Given the description of an element on the screen output the (x, y) to click on. 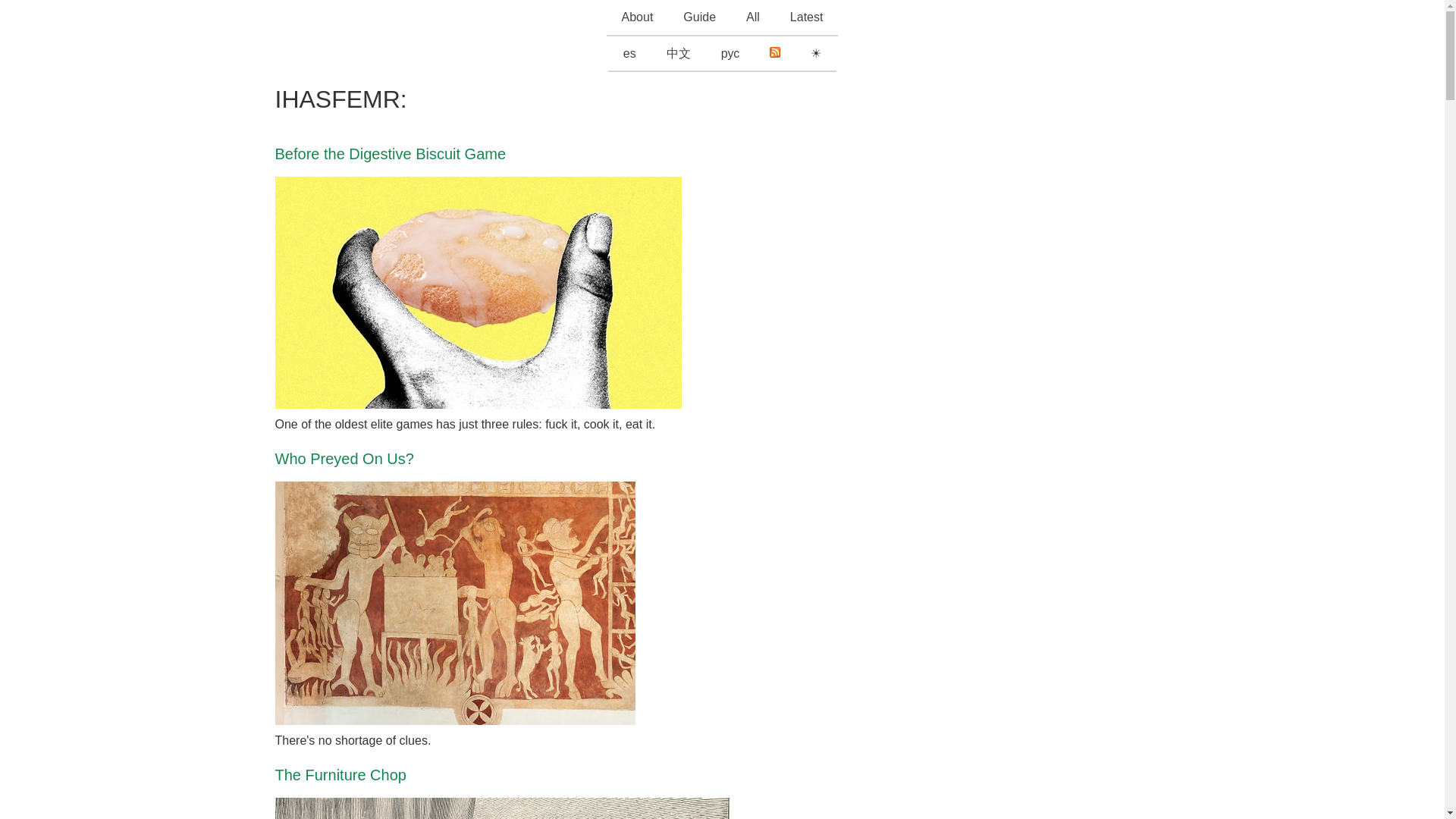
Who Preyed On Us? (344, 458)
All (752, 18)
The Furniture Chop (340, 774)
Guide (699, 18)
Before the Digestive Biscuit Game (390, 153)
Latest (806, 18)
es (629, 54)
About (637, 18)
